Given the description of an element on the screen output the (x, y) to click on. 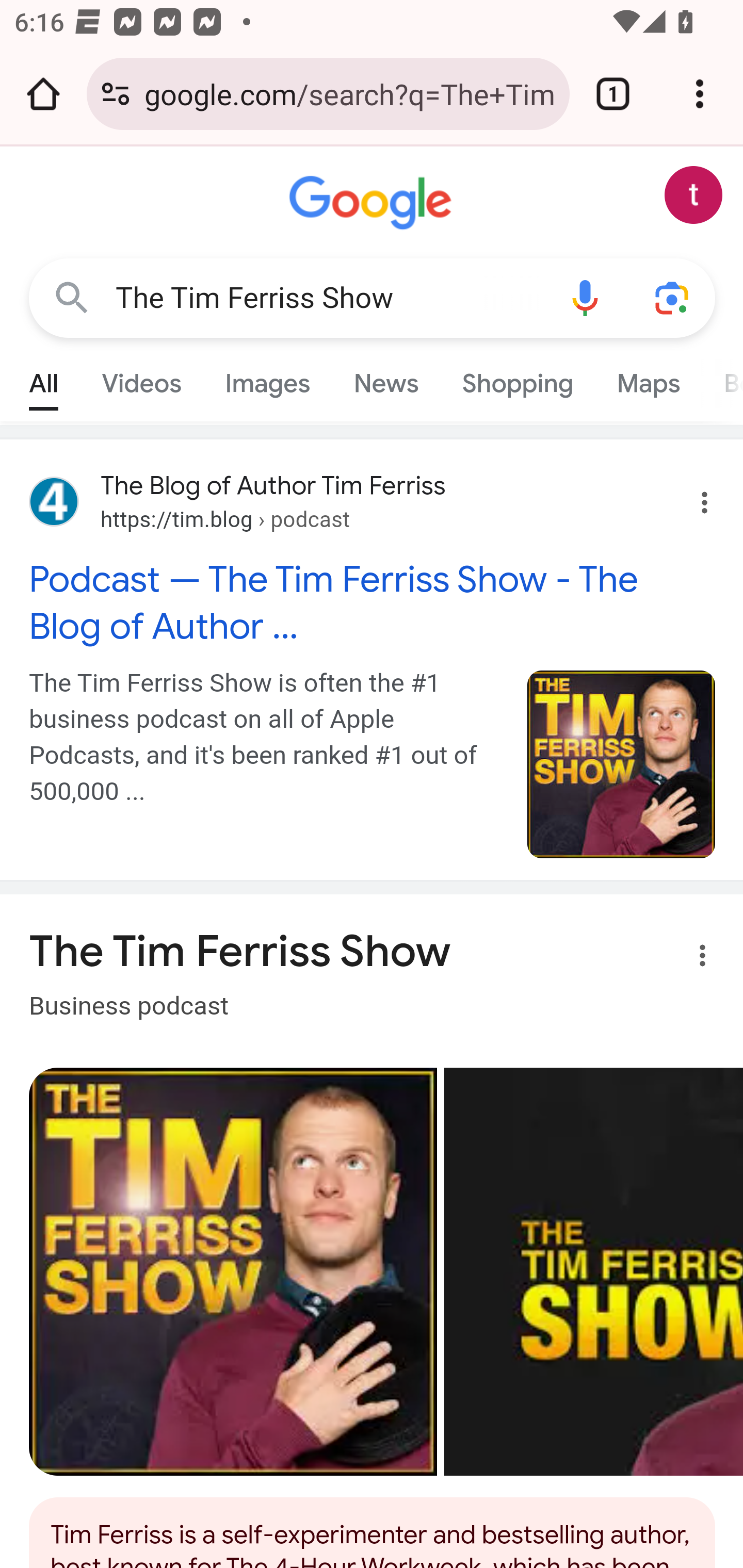
Open the home page (43, 93)
Connection is secure (115, 93)
Switch or close tabs (612, 93)
Customize and control Google Chrome (699, 93)
Google (372, 203)
Google Search (71, 296)
Search using your camera or photos (672, 296)
The Tim Ferriss Show (328, 297)
Videos (141, 378)
Images (267, 378)
News (385, 378)
Shopping (516, 378)
Maps (647, 378)
?amp (621, 764)
More options (690, 959)
